Given the description of an element on the screen output the (x, y) to click on. 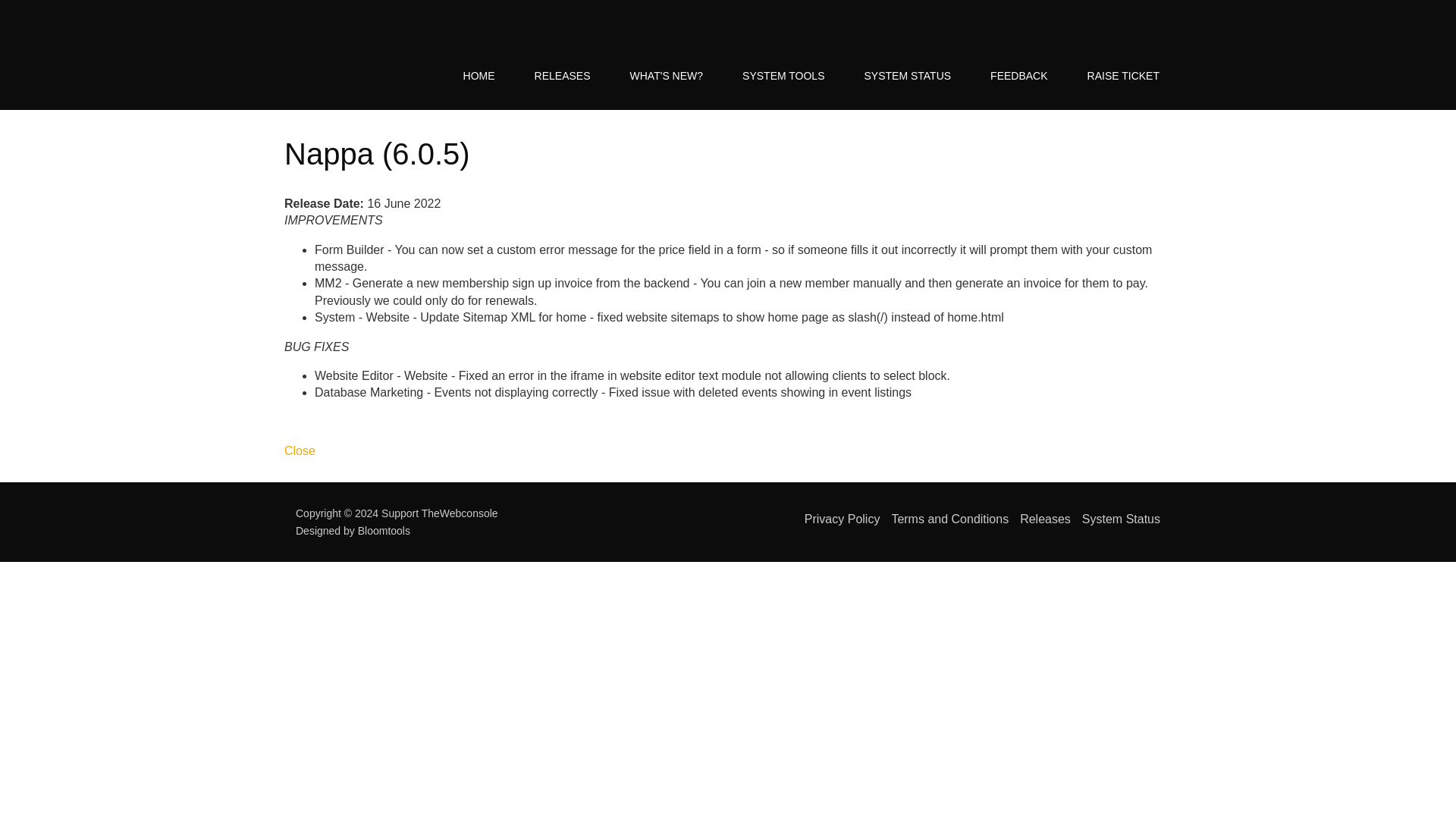
FEEDBACK (1019, 75)
SYSTEM STATUS (907, 75)
Support TheWebconsole (351, 54)
WHAT'S NEW? (666, 75)
RELEASES (562, 75)
RAISE TICKET (1123, 75)
SYSTEM TOOLS (783, 75)
